Given the description of an element on the screen output the (x, y) to click on. 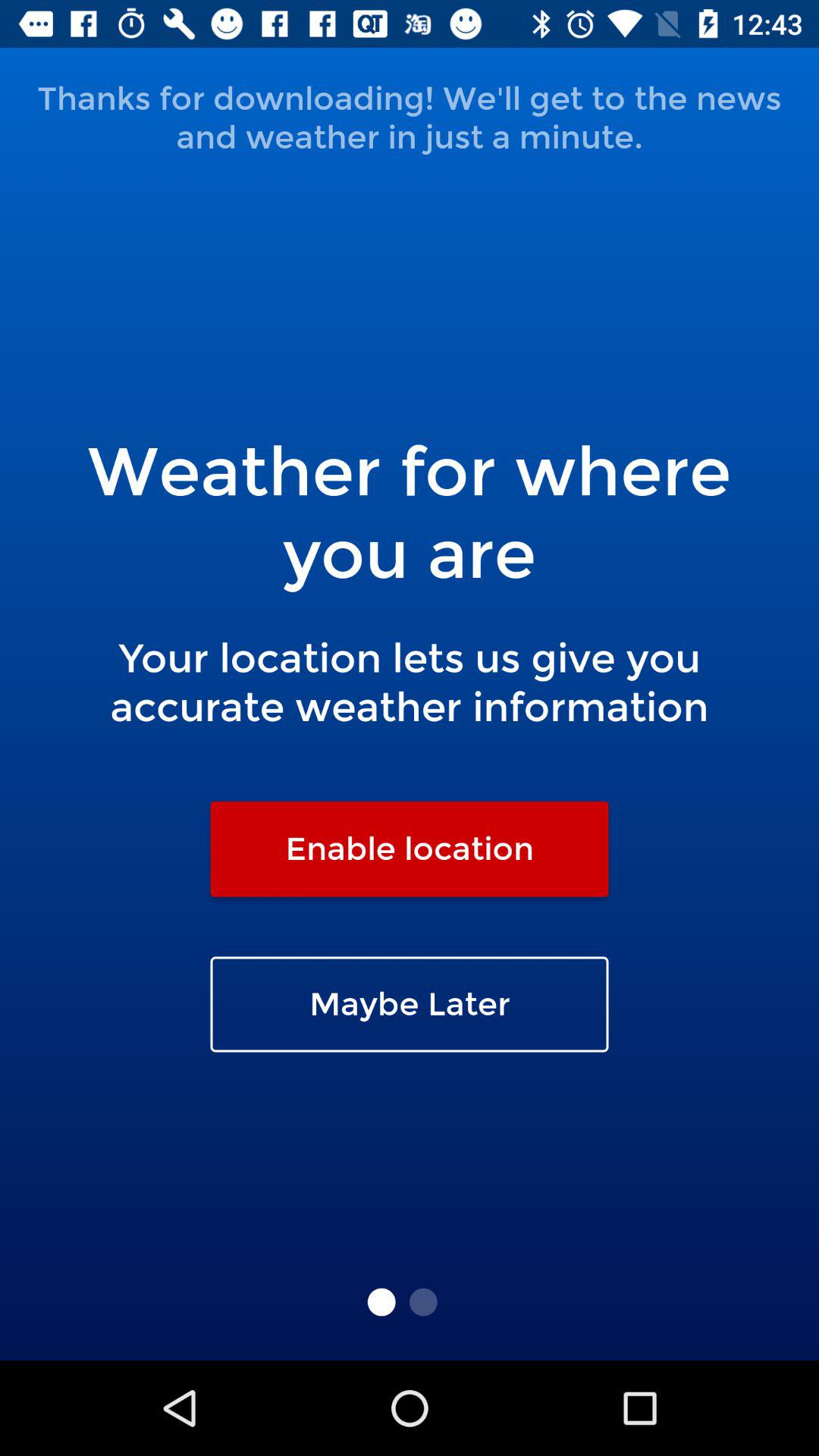
tap the icon above the maybe later item (409, 848)
